Given the description of an element on the screen output the (x, y) to click on. 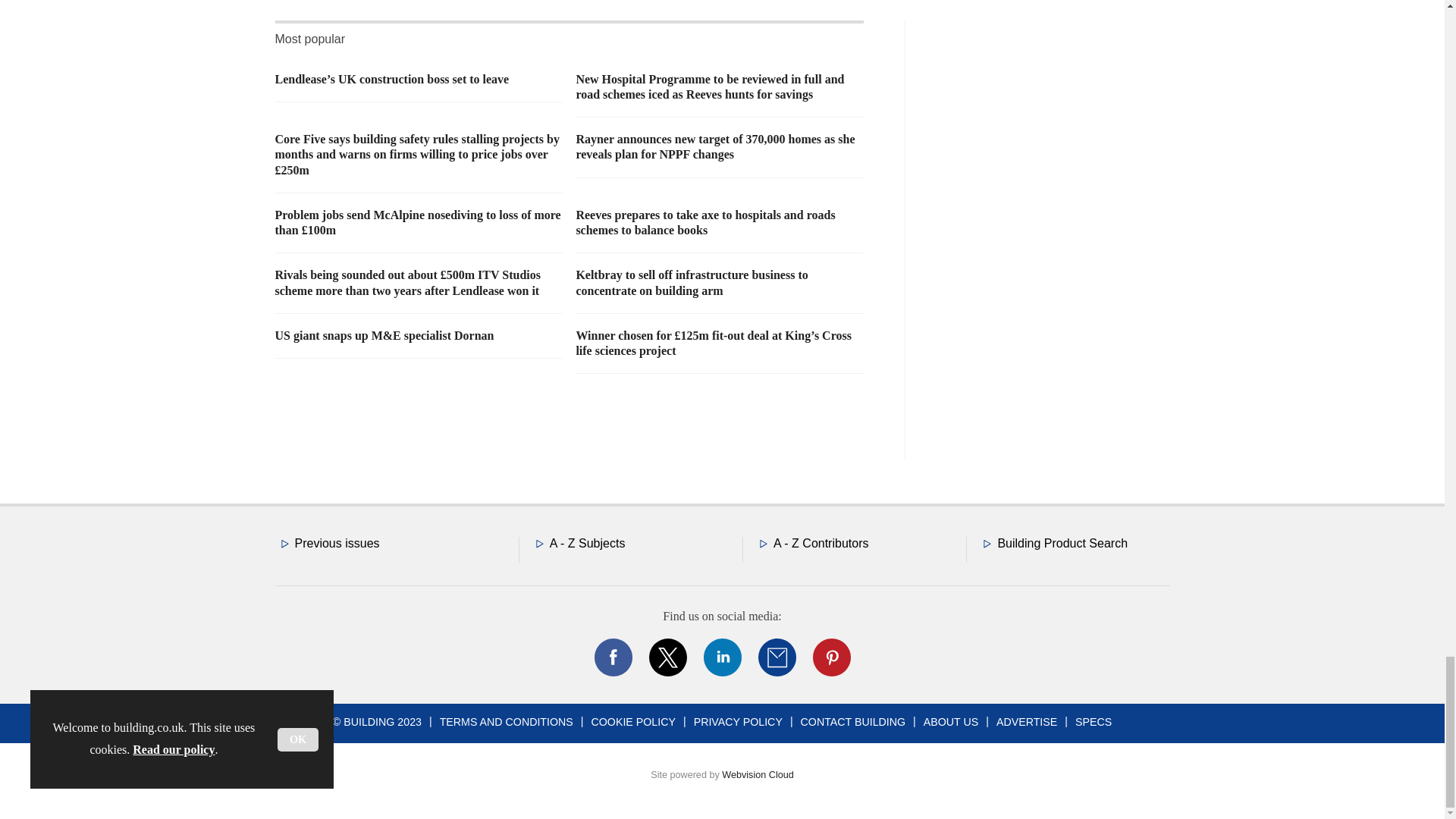
Connect with us on Pinterest (830, 657)
Connect with us on Linked in (721, 657)
Email us (776, 657)
Connect with us on Facebook (611, 657)
Connect with us on Twitter (667, 657)
